Given the description of an element on the screen output the (x, y) to click on. 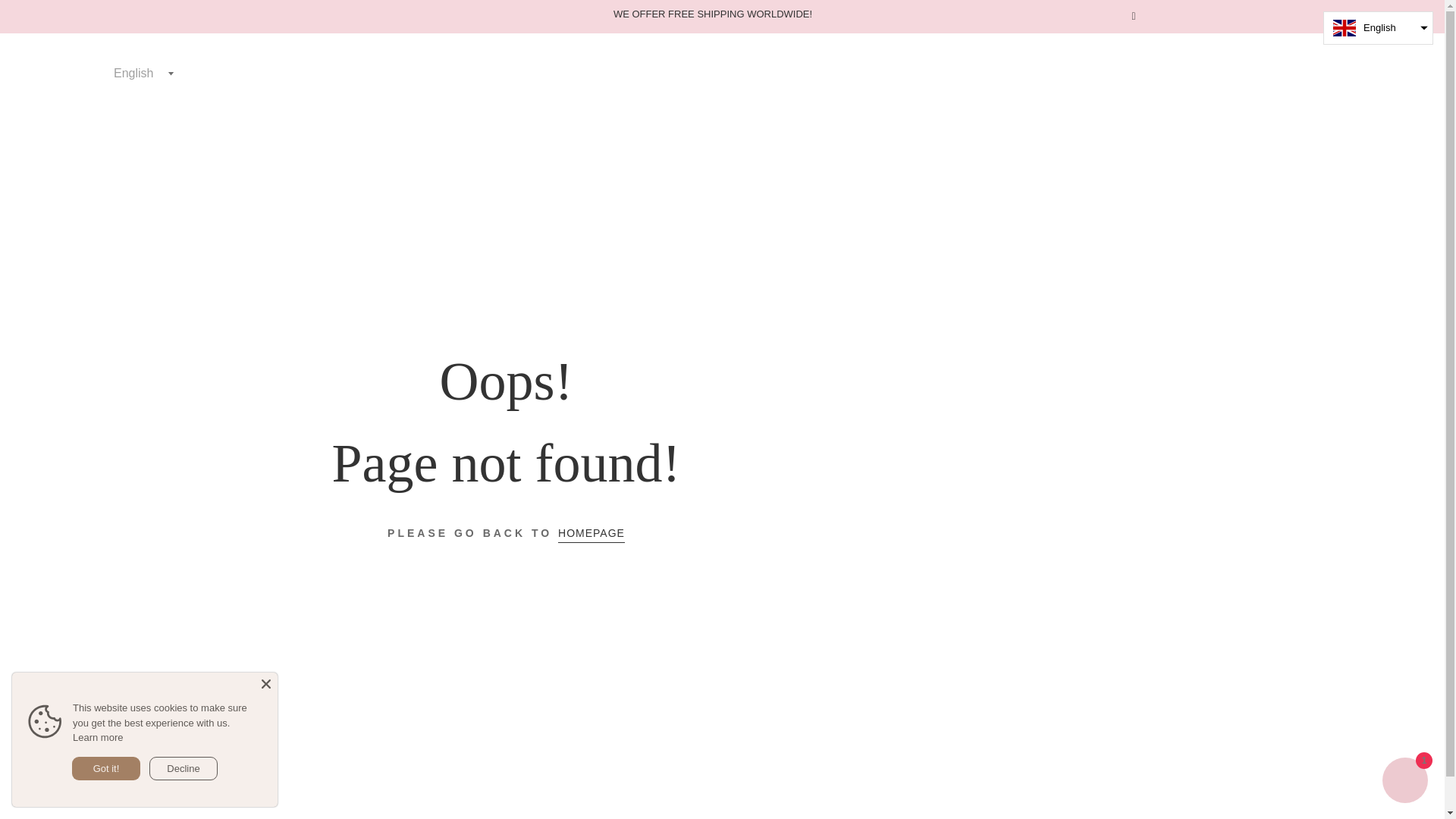
Learn more (97, 737)
HOMEPAGE (590, 532)
Shopify online store chat (1404, 781)
